Given the description of an element on the screen output the (x, y) to click on. 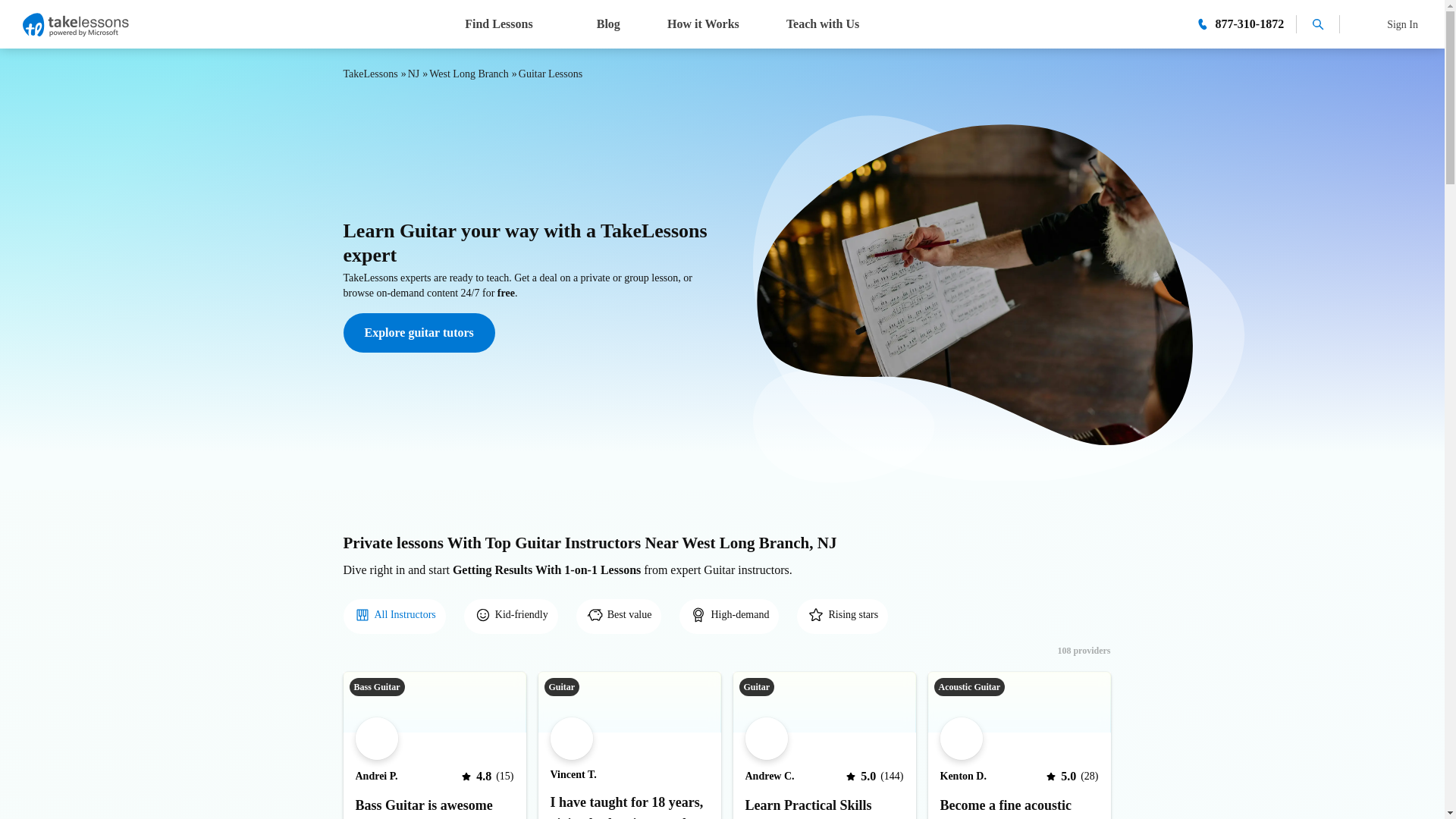
Teach with Us (822, 22)
Kenton D. (963, 776)
TakeLessons (369, 73)
Sign In (1380, 24)
Andrei P. (376, 776)
Explore guitar tutors (418, 332)
Bass Guitar is awesome (434, 804)
Kid-friendly (510, 615)
Best value (619, 616)
Rising stars (841, 616)
